Given the description of an element on the screen output the (x, y) to click on. 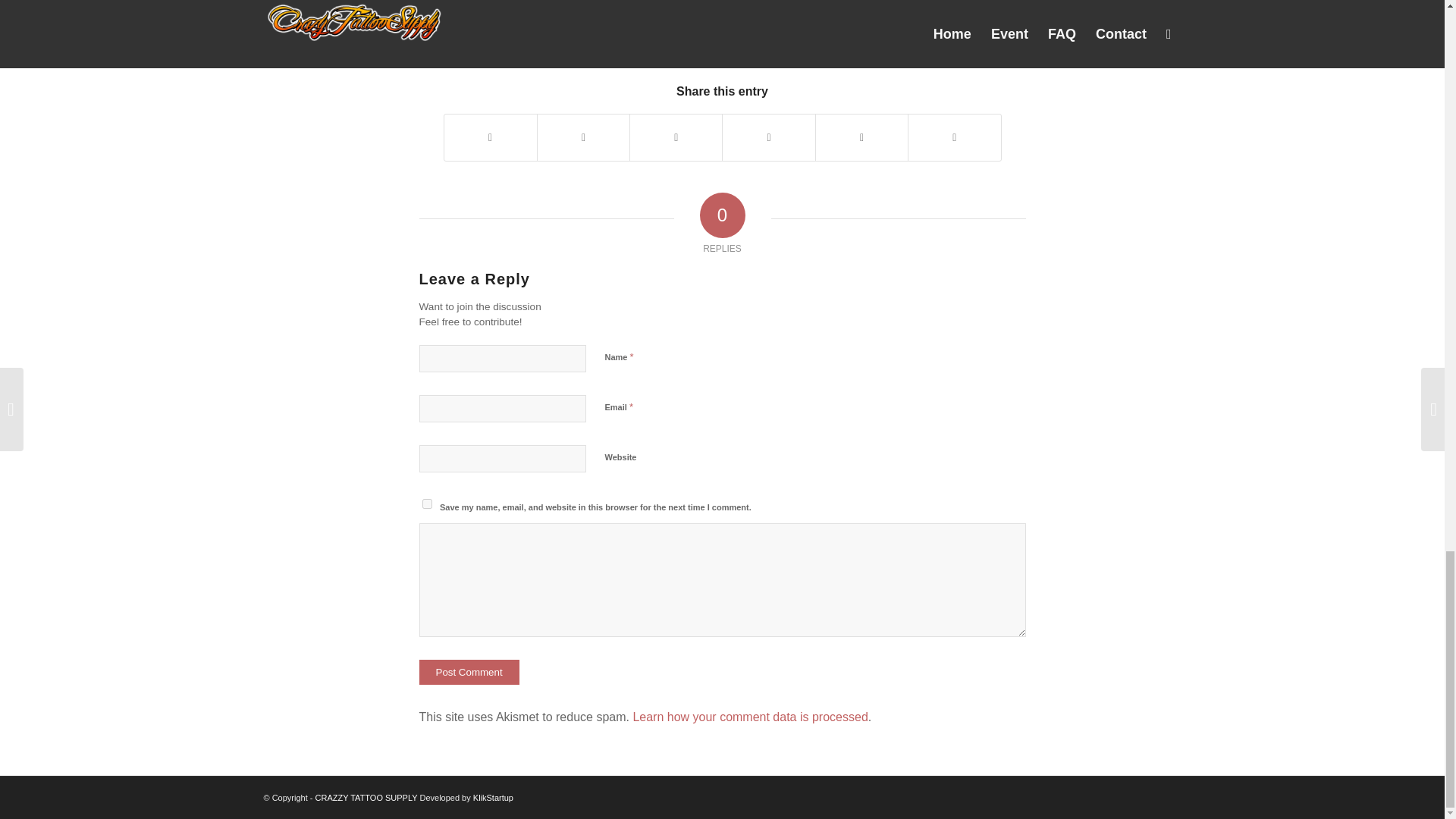
JOHANGILA (768, 35)
0 COMMENTS (665, 35)
yes (426, 503)
KlikStartup (493, 797)
Post Comment (468, 672)
CRAZZY TATTOO SUPPLY (366, 797)
Post Comment (468, 672)
Posts by johangila (768, 35)
Learn how your comment data is processed (749, 716)
